Given the description of an element on the screen output the (x, y) to click on. 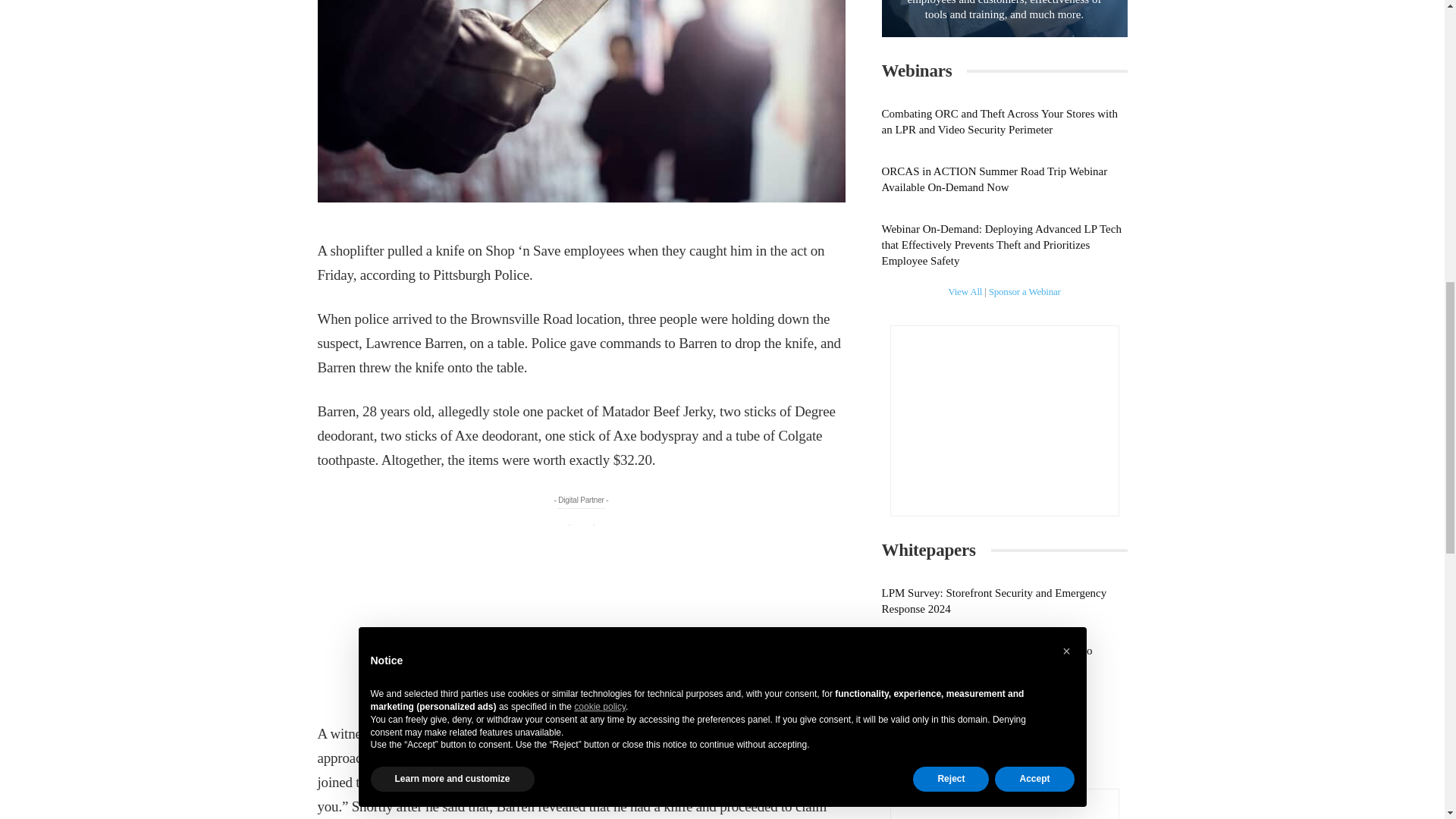
knife-stab-robbery-assault-1280x720 (580, 101)
